Given the description of an element on the screen output the (x, y) to click on. 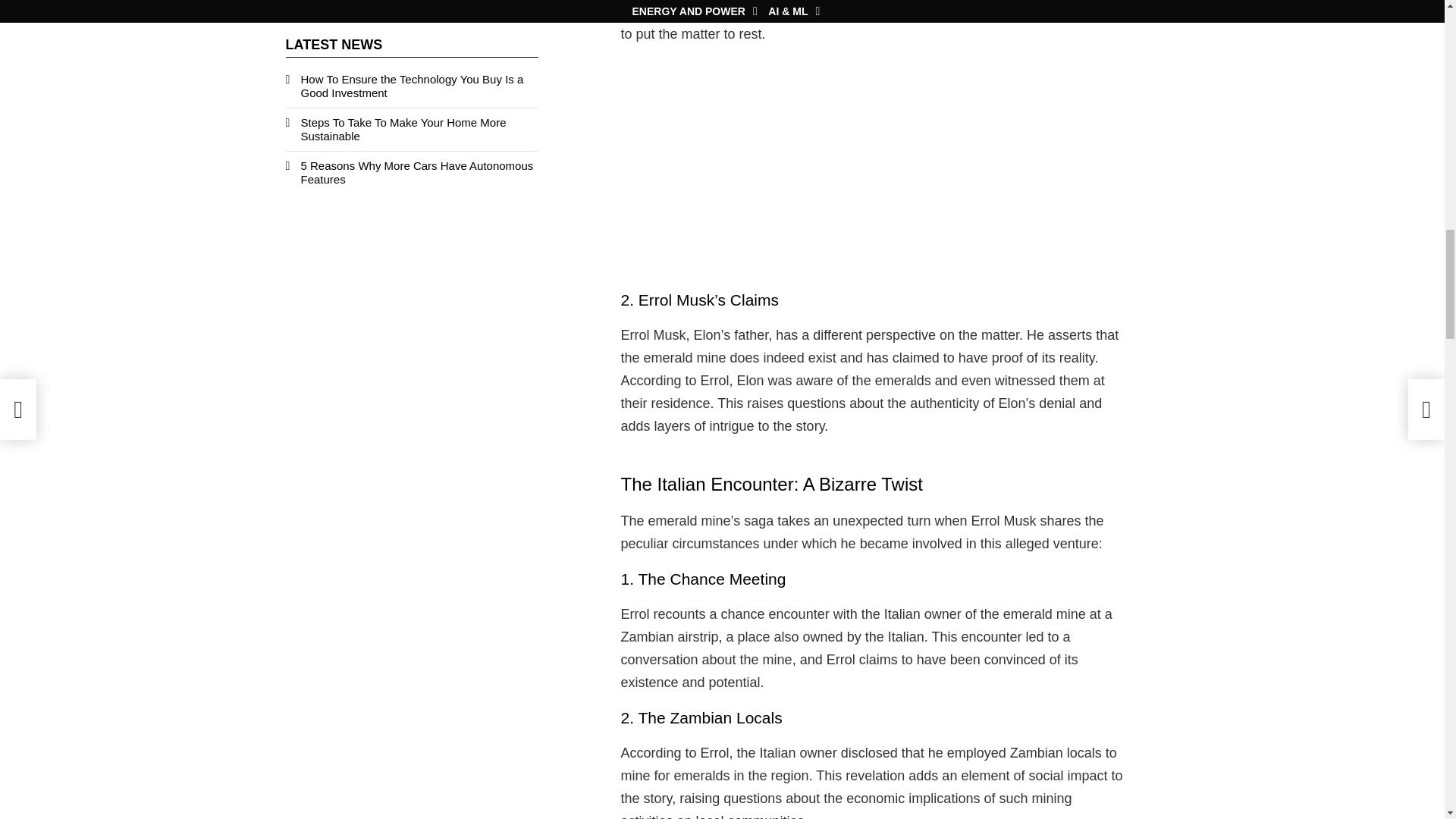
Advertisement (870, 166)
